Given the description of an element on the screen output the (x, y) to click on. 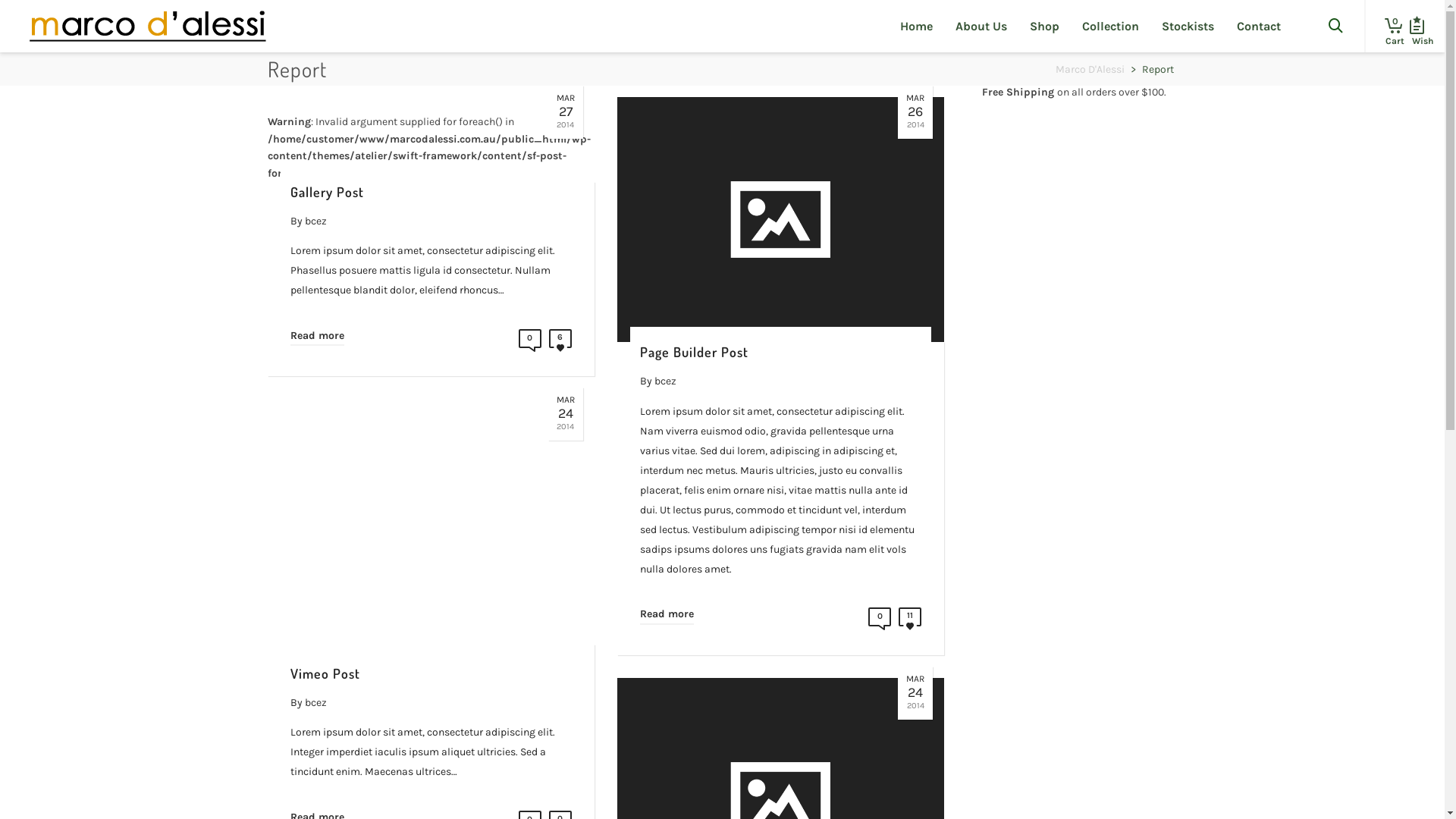
bcez Element type: text (315, 220)
Read more Element type: text (666, 611)
0 Element type: text (879, 621)
6 Element type: text (560, 343)
Home Element type: text (916, 26)
Collection Element type: text (1110, 26)
View your wishlist Element type: hover (1416, 26)
0 Element type: text (529, 343)
Shop Element type: text (1044, 26)
Read more Element type: text (316, 332)
0 Element type: text (1388, 26)
About Us Element type: text (981, 26)
Marco D'Alessi Element type: text (1089, 68)
Contact Element type: text (1258, 26)
Stockists Element type: text (1187, 26)
11 Element type: text (909, 621)
bcez Element type: text (315, 702)
bcez Element type: text (665, 380)
